Given the description of an element on the screen output the (x, y) to click on. 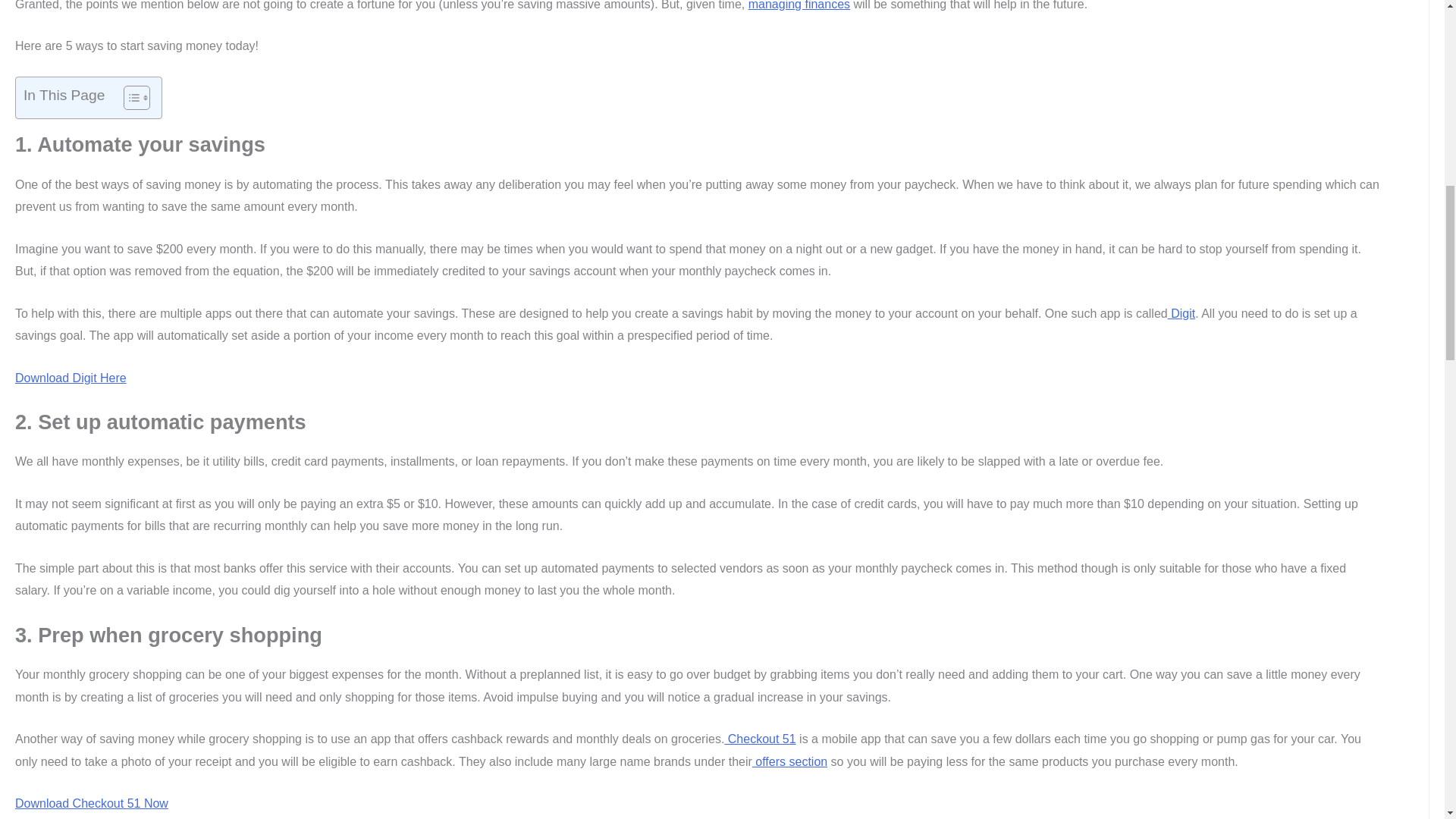
Download Checkout 51 Now (91, 802)
Digit (1181, 313)
offers section (789, 761)
Download Digit Here (70, 377)
managing finances (799, 5)
Checkout 51 (758, 738)
